Given the description of an element on the screen output the (x, y) to click on. 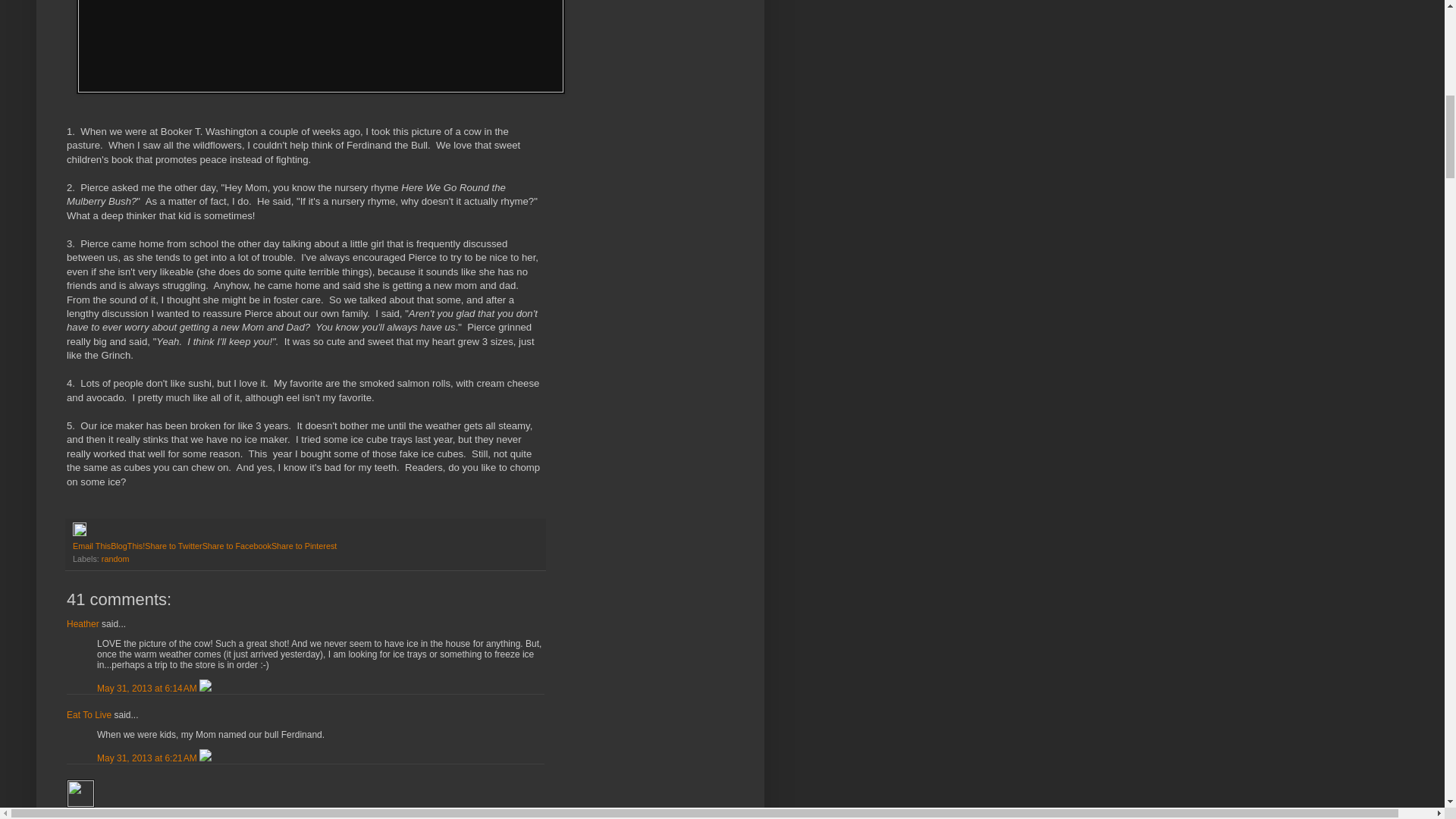
comment permalink (148, 688)
Delete Comment (205, 688)
Edit Post (78, 532)
Eat To Live (89, 715)
Sandra (80, 793)
Email This (91, 545)
Heather (82, 624)
BlogThis! (127, 545)
Sandra (81, 814)
BlogThis! (127, 545)
Share to Facebook (236, 545)
Share to Pinterest (303, 545)
Share to Twitter (173, 545)
Share to Twitter (173, 545)
